Given the description of an element on the screen output the (x, y) to click on. 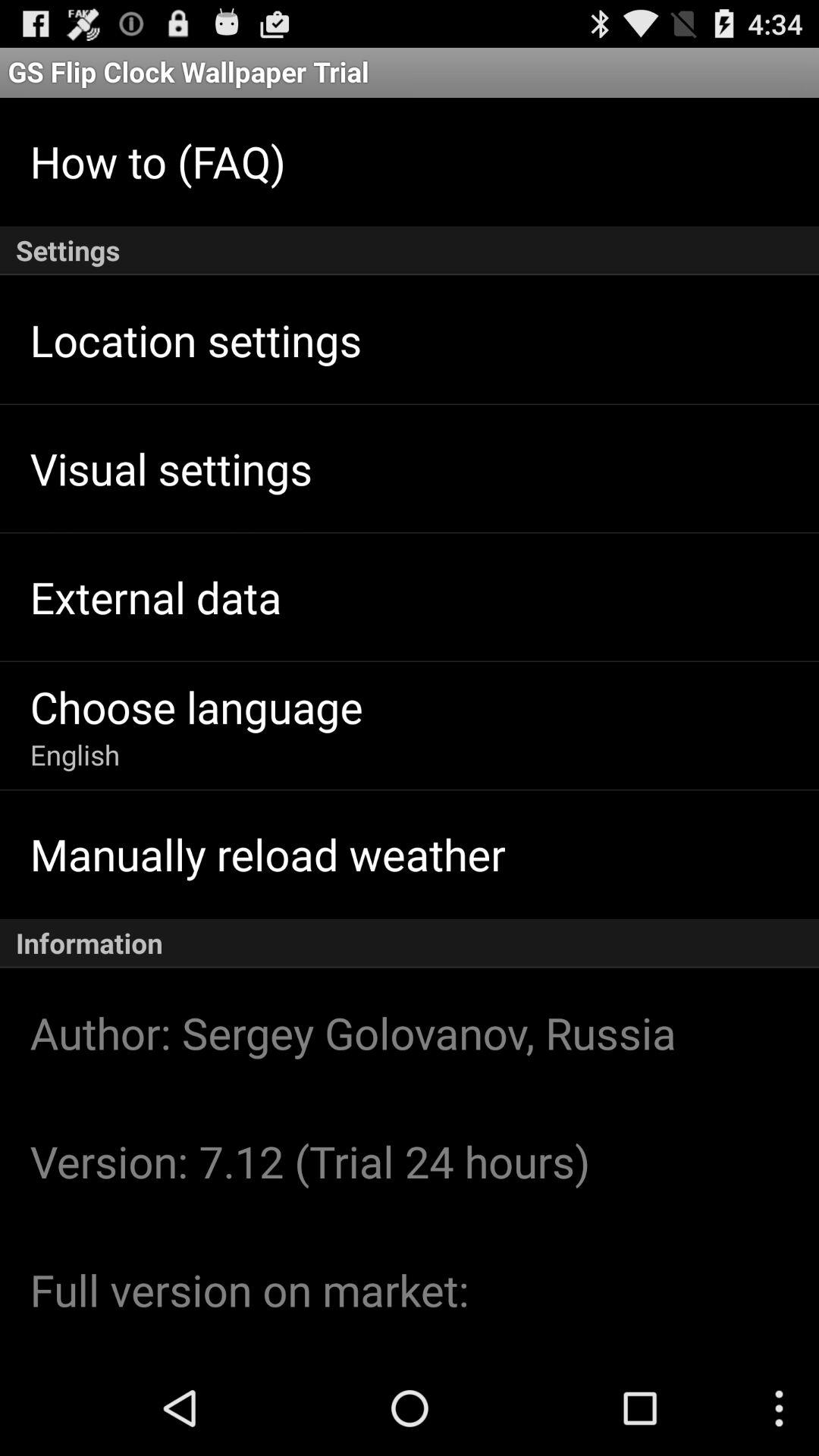
jump until information icon (409, 943)
